Given the description of an element on the screen output the (x, y) to click on. 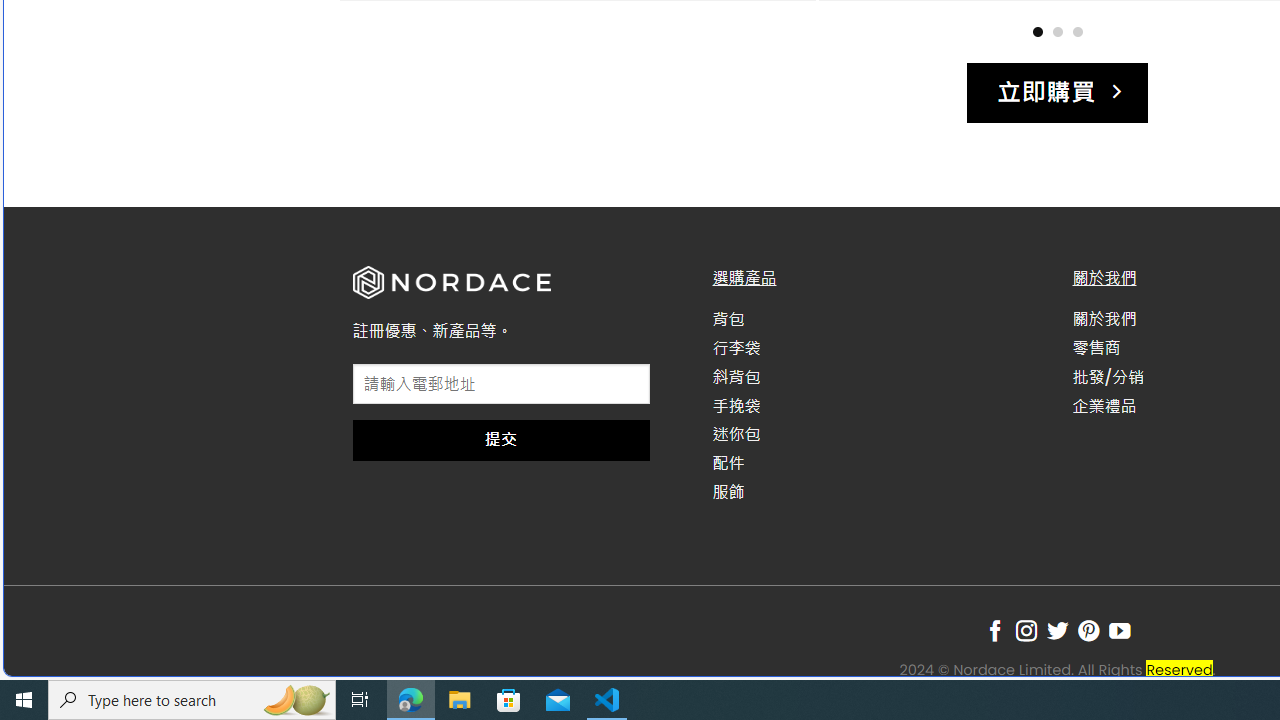
Follow on Instagram (1026, 631)
